Given the description of an element on the screen output the (x, y) to click on. 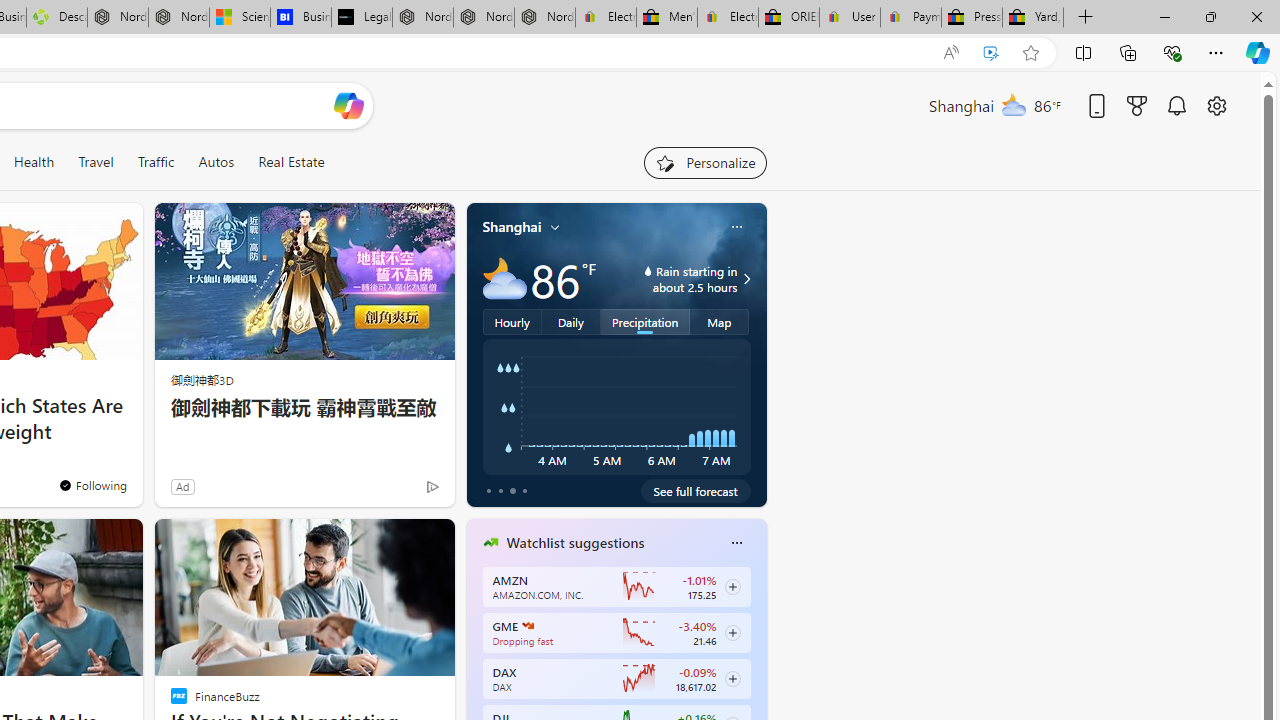
Press Room - eBay Inc. (972, 17)
Precipitation (645, 321)
You're following Newsweek (92, 485)
tab-1 (500, 490)
tab-3 (524, 490)
water-drop-icon Rain starting in about 2.5 hours (674, 278)
